Given the description of an element on the screen output the (x, y) to click on. 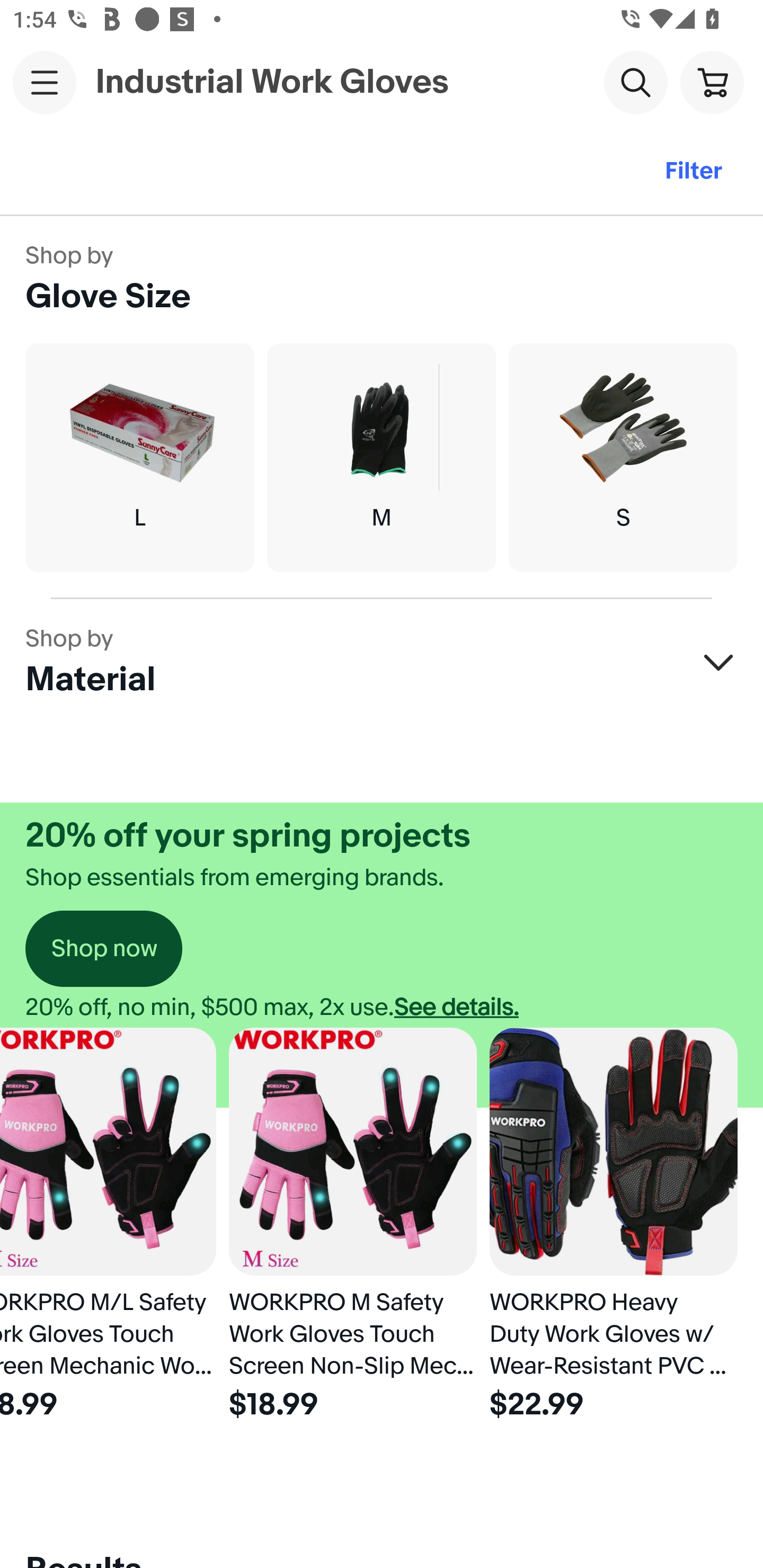
Main navigation, open (44, 82)
Search (635, 81)
Cart button shopping cart (711, 81)
Filter (693, 171)
L (139, 457)
M (381, 457)
S (622, 457)
Shop by Material (381, 661)
